Given the description of an element on the screen output the (x, y) to click on. 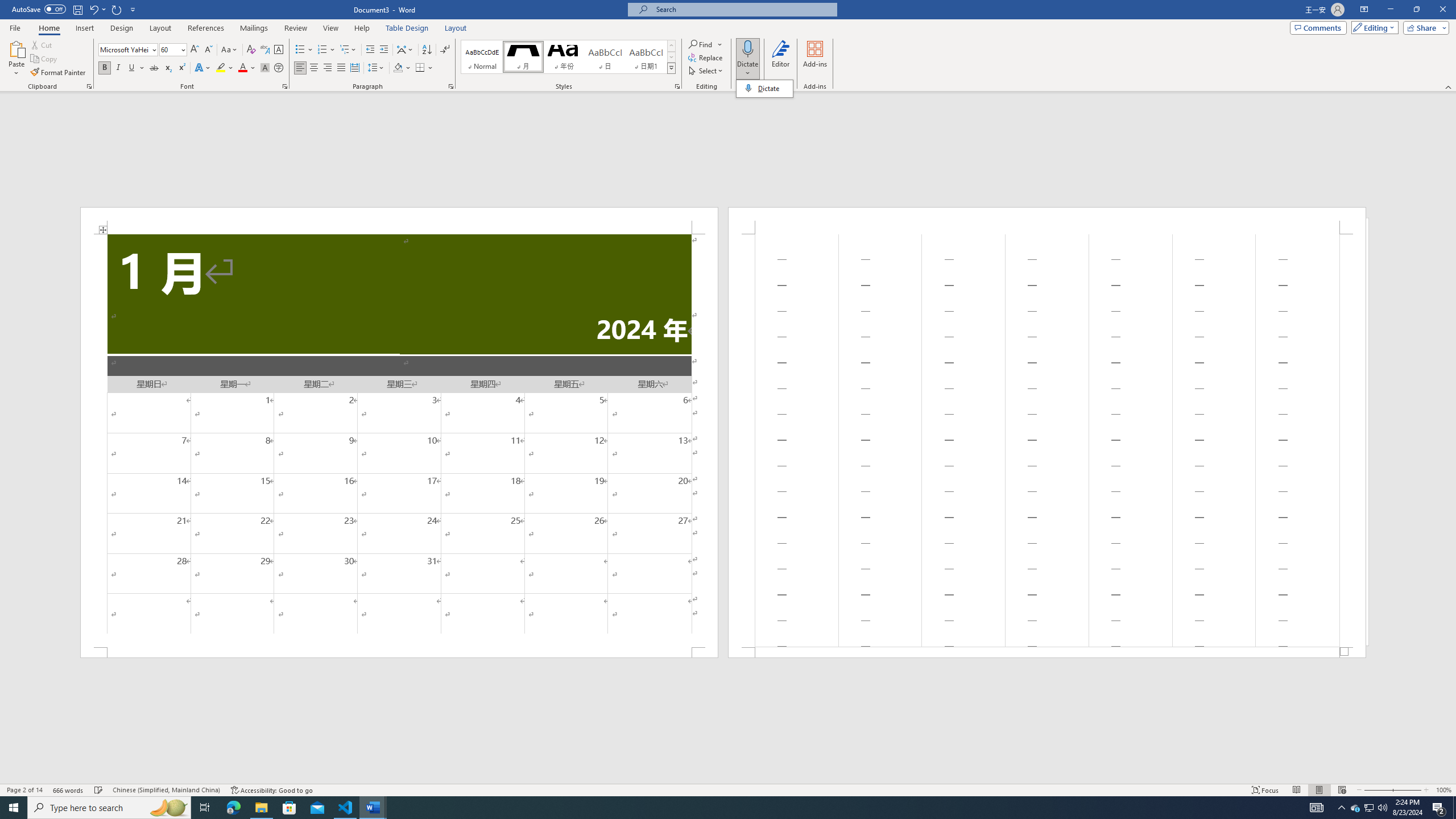
Zoom In (1407, 790)
Character Shading (264, 67)
View (330, 28)
Strikethrough (154, 67)
Help (361, 28)
Editor (780, 58)
Insert (83, 28)
Shading RGB(0, 0, 0) (397, 67)
Format Painter (58, 72)
Undo Apply Quick Style (92, 9)
Numbering (322, 49)
Web Layout (1342, 790)
Paragraph... (450, 85)
